Given the description of an element on the screen output the (x, y) to click on. 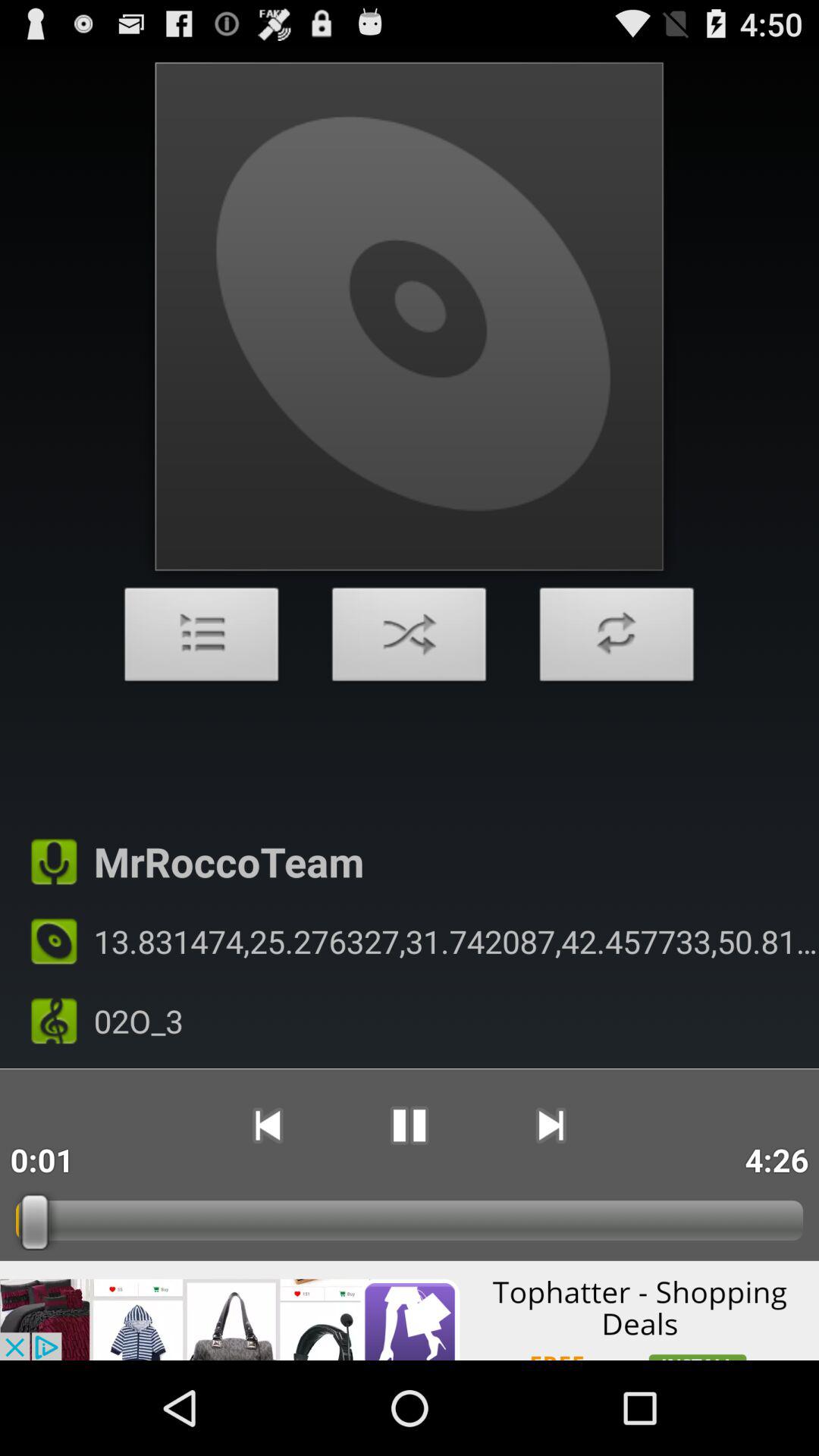
view advertisement (409, 1310)
